Given the description of an element on the screen output the (x, y) to click on. 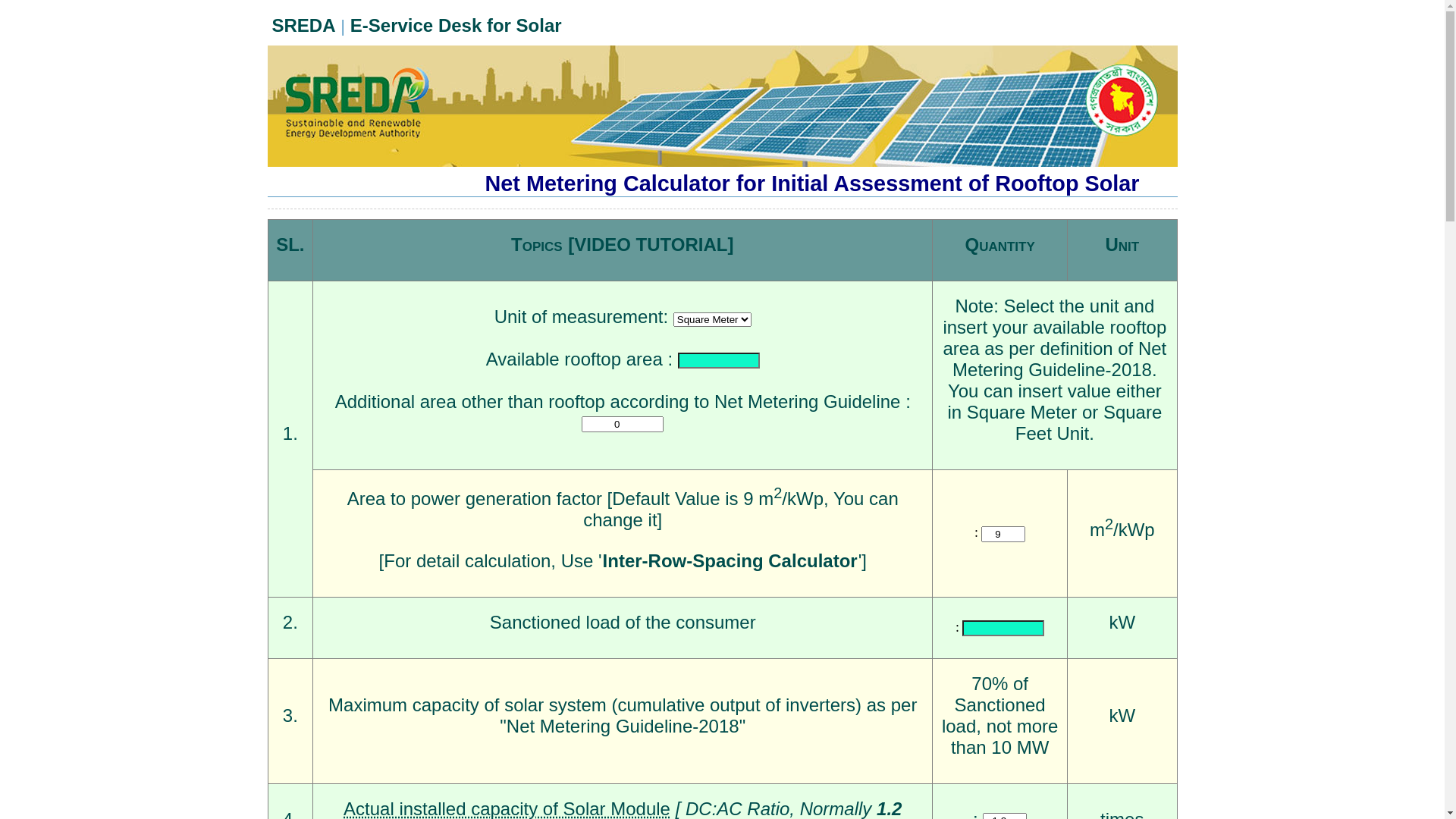
E-Service Desk for Solar Element type: text (455, 25)
[VIDEO TUTORIAL] Element type: text (650, 244)
SREDA Element type: text (303, 25)
Inter-Row-Spacing Calculator Element type: text (730, 560)
